Given the description of an element on the screen output the (x, y) to click on. 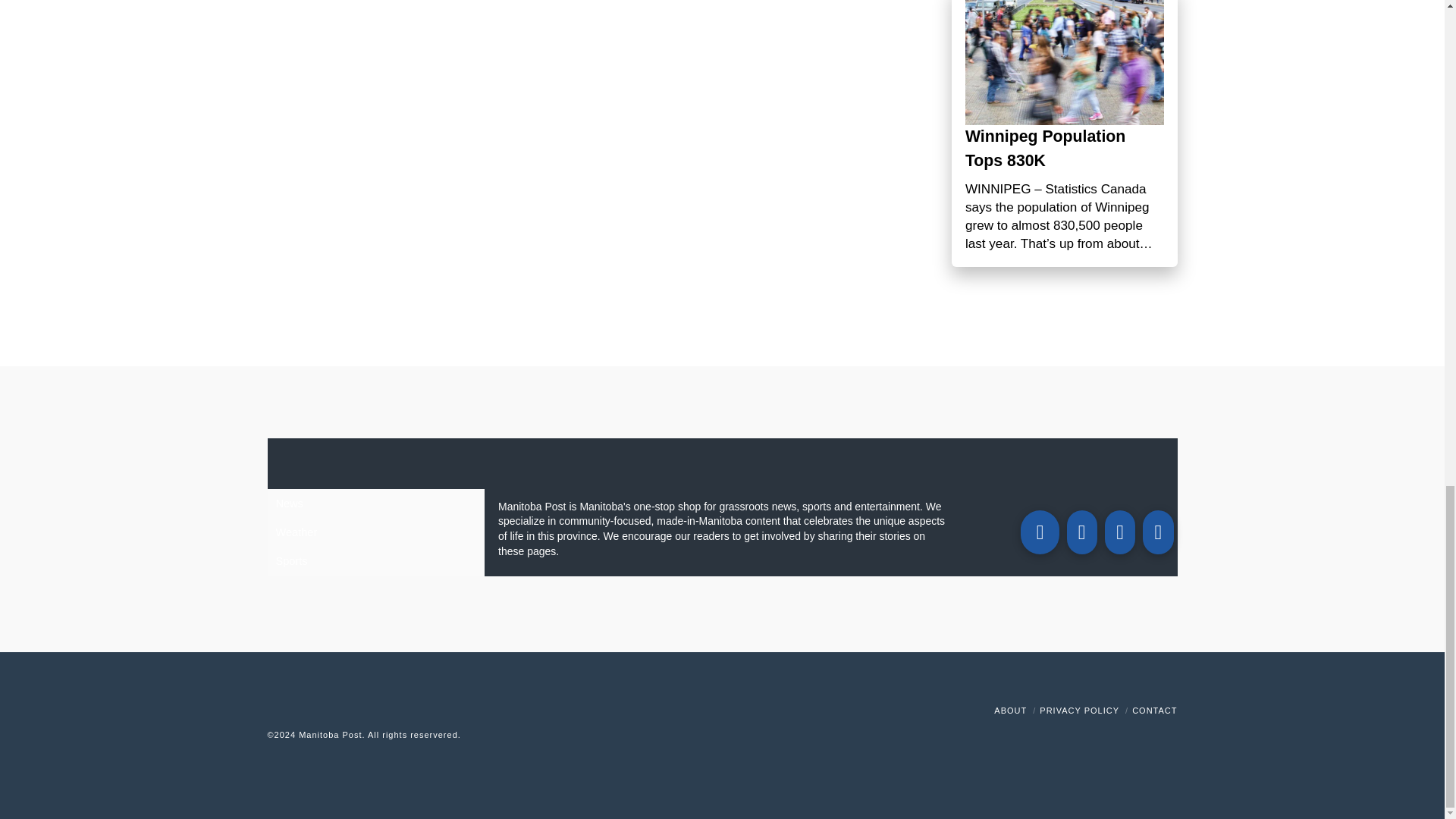
News (375, 502)
Sports (375, 561)
FooterWhite (497, 734)
Weather (375, 532)
